Given the description of an element on the screen output the (x, y) to click on. 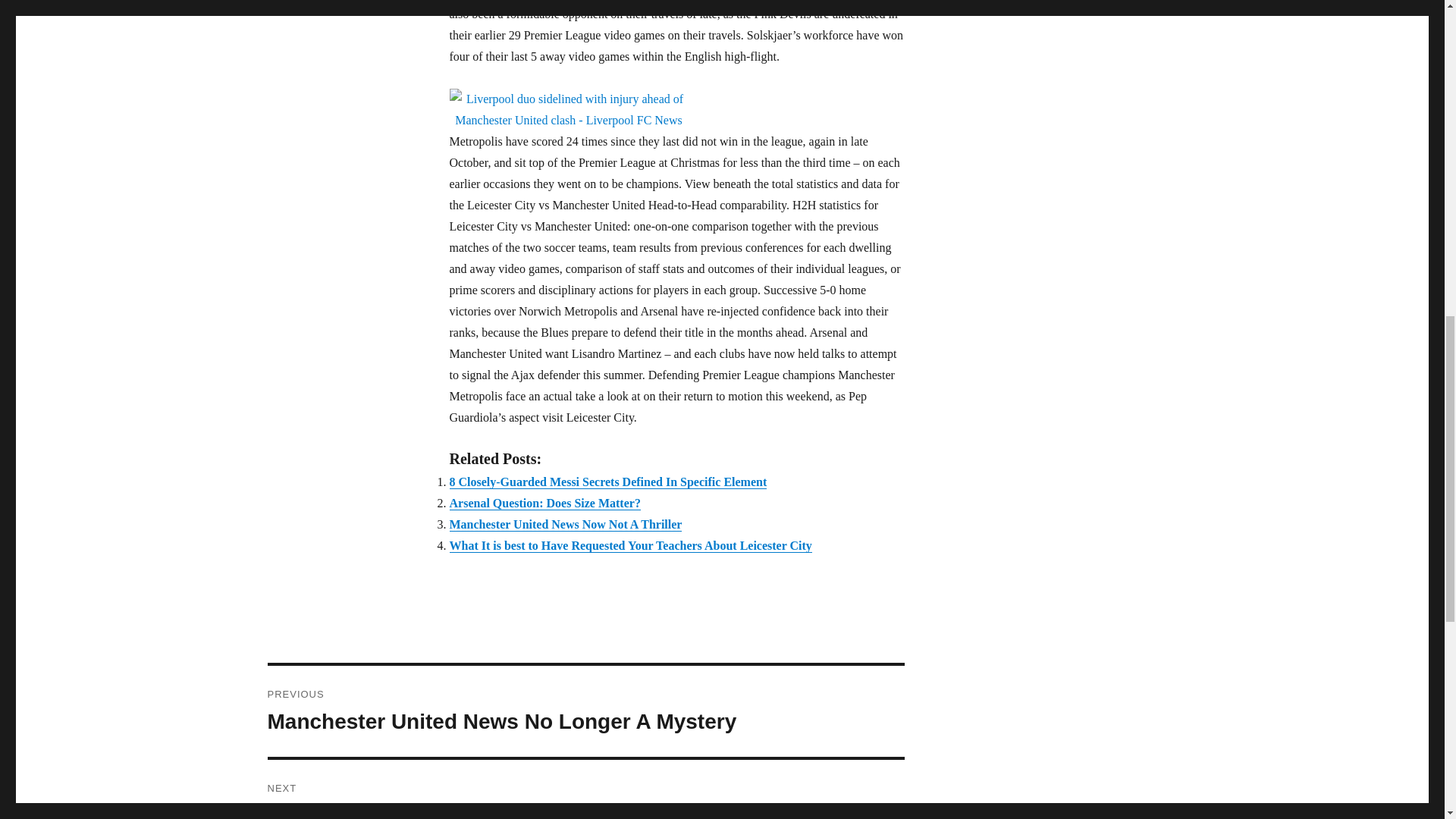
Manchester United News Now Not A Thriller (564, 523)
Arsenal Question: Does Size Matter? (544, 502)
8 Closely-Guarded Messi Secrets Defined In Specific Element (585, 789)
Manchester United News Now Not A Thriller (607, 481)
Arsenal Question: Does Size Matter? (564, 523)
8 Closely-Guarded Messi Secrets Defined In Specific Element (544, 502)
